Given the description of an element on the screen output the (x, y) to click on. 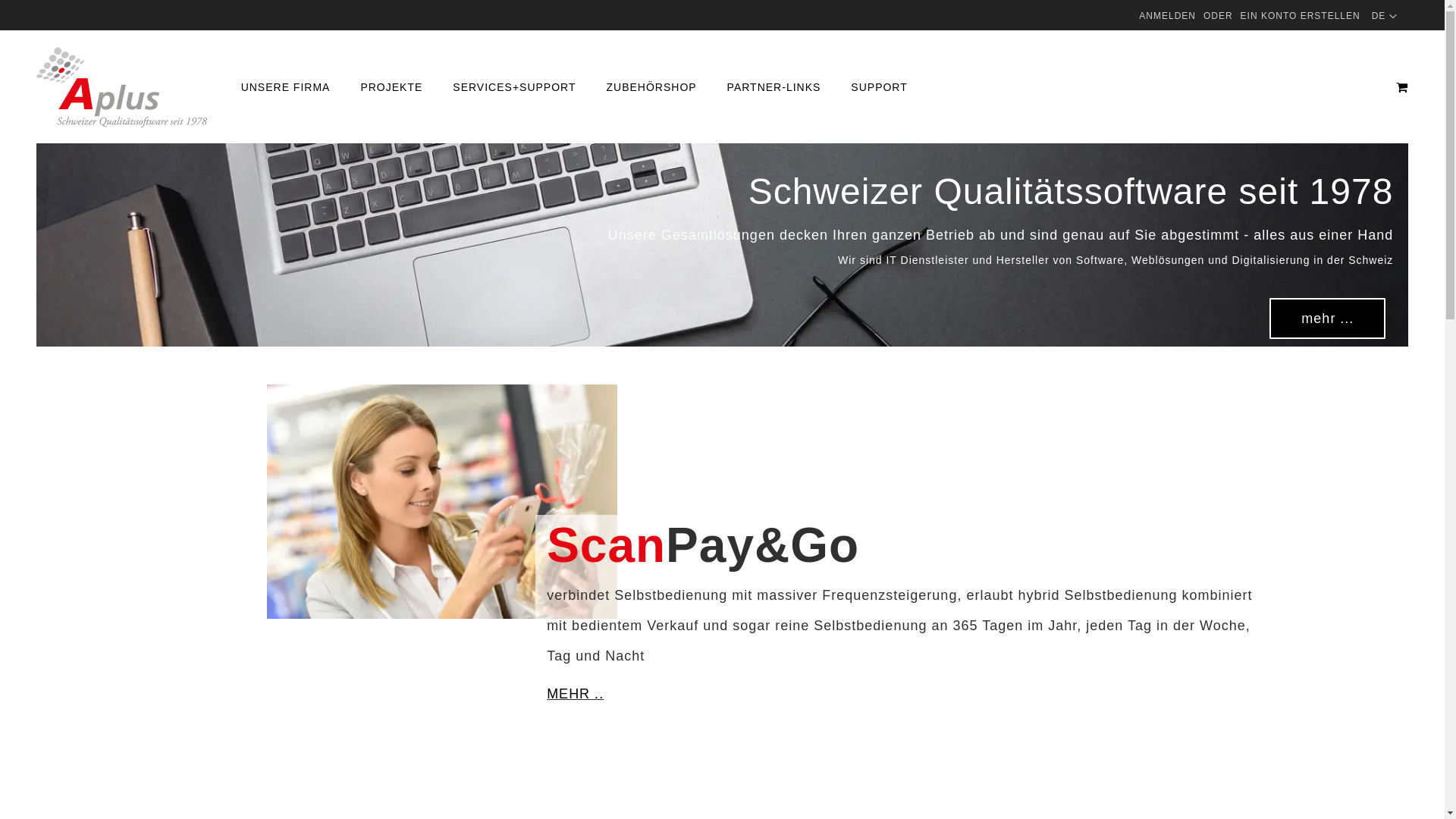
MEIN WARENKORB Element type: text (1402, 86)
EIN KONTO ERSTELLEN Element type: text (1300, 15)
PARTNER-LINKS Element type: text (774, 87)
SERVICES+SUPPORT Element type: text (513, 87)
UNSERE FIRMA Element type: text (285, 87)
SUPPORT Element type: text (878, 87)
ANMELDEN Element type: text (1167, 15)
MEHR .. Element type: text (574, 693)
mehr ... Element type: text (1327, 318)
AplusAG.CH SA Element type: hover (121, 87)
PROJEKTE Element type: text (391, 87)
